Given the description of an element on the screen output the (x, y) to click on. 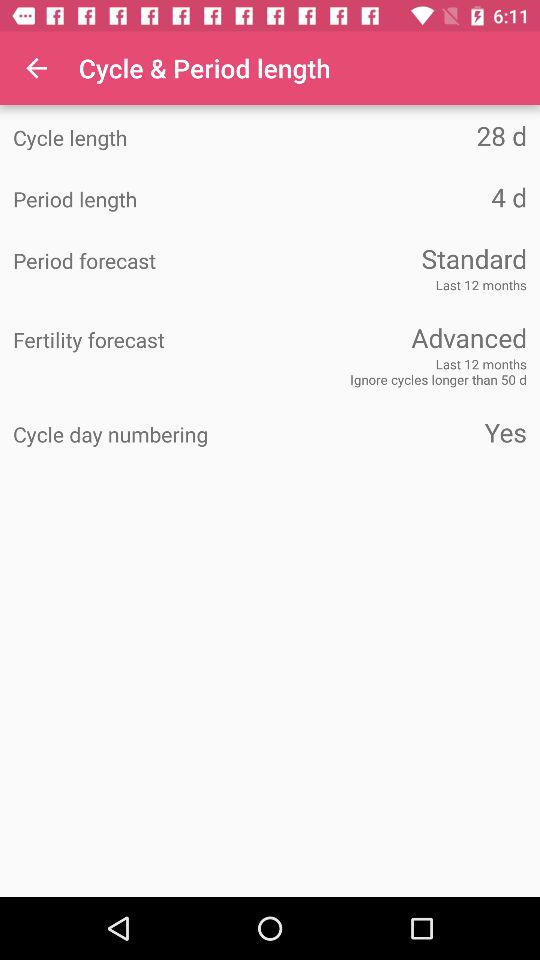
choose item to the left of the cycle & period length item (36, 68)
